Given the description of an element on the screen output the (x, y) to click on. 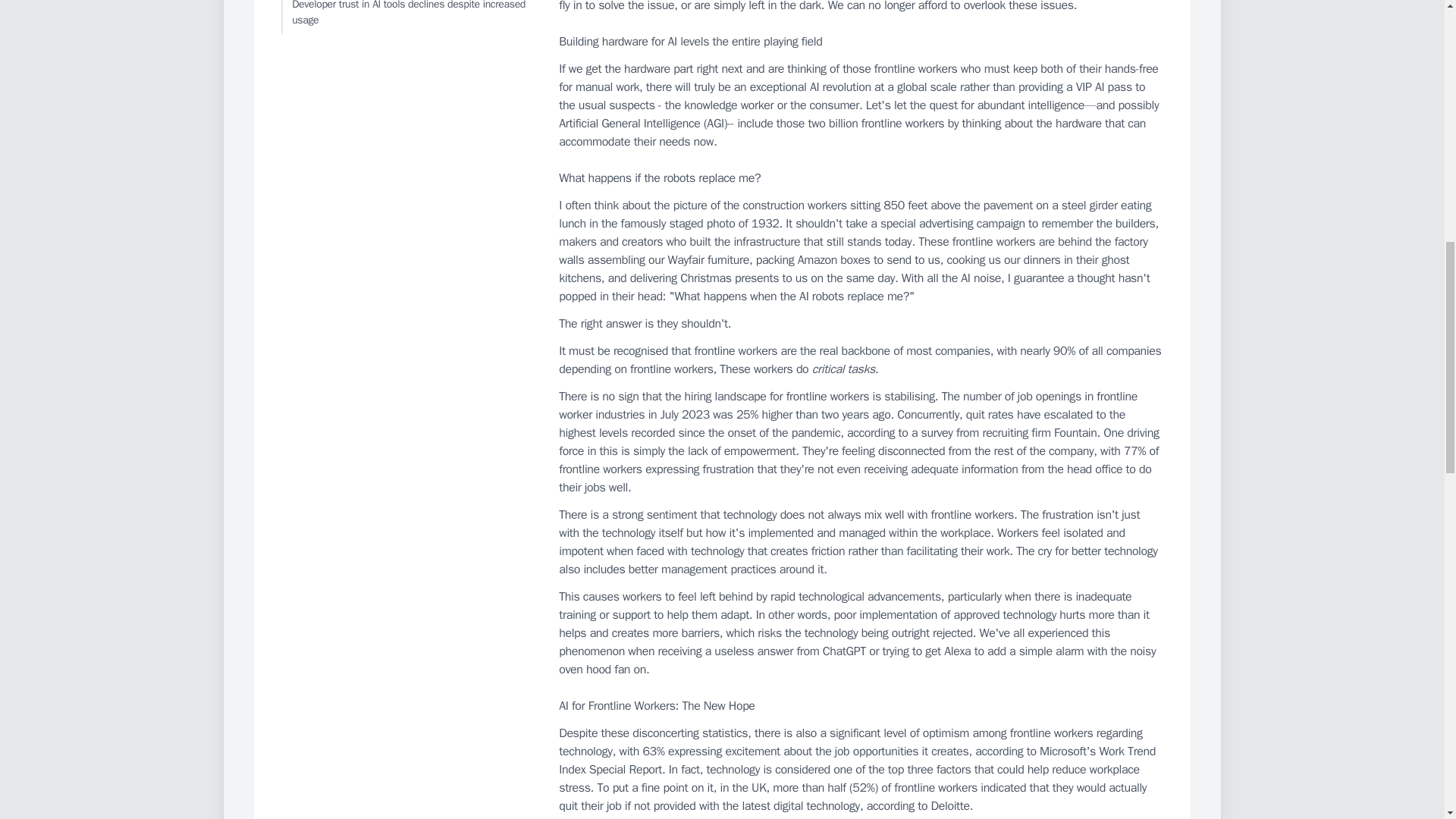
Developer trust in AI tools declines despite increased usage (406, 17)
